Given the description of an element on the screen output the (x, y) to click on. 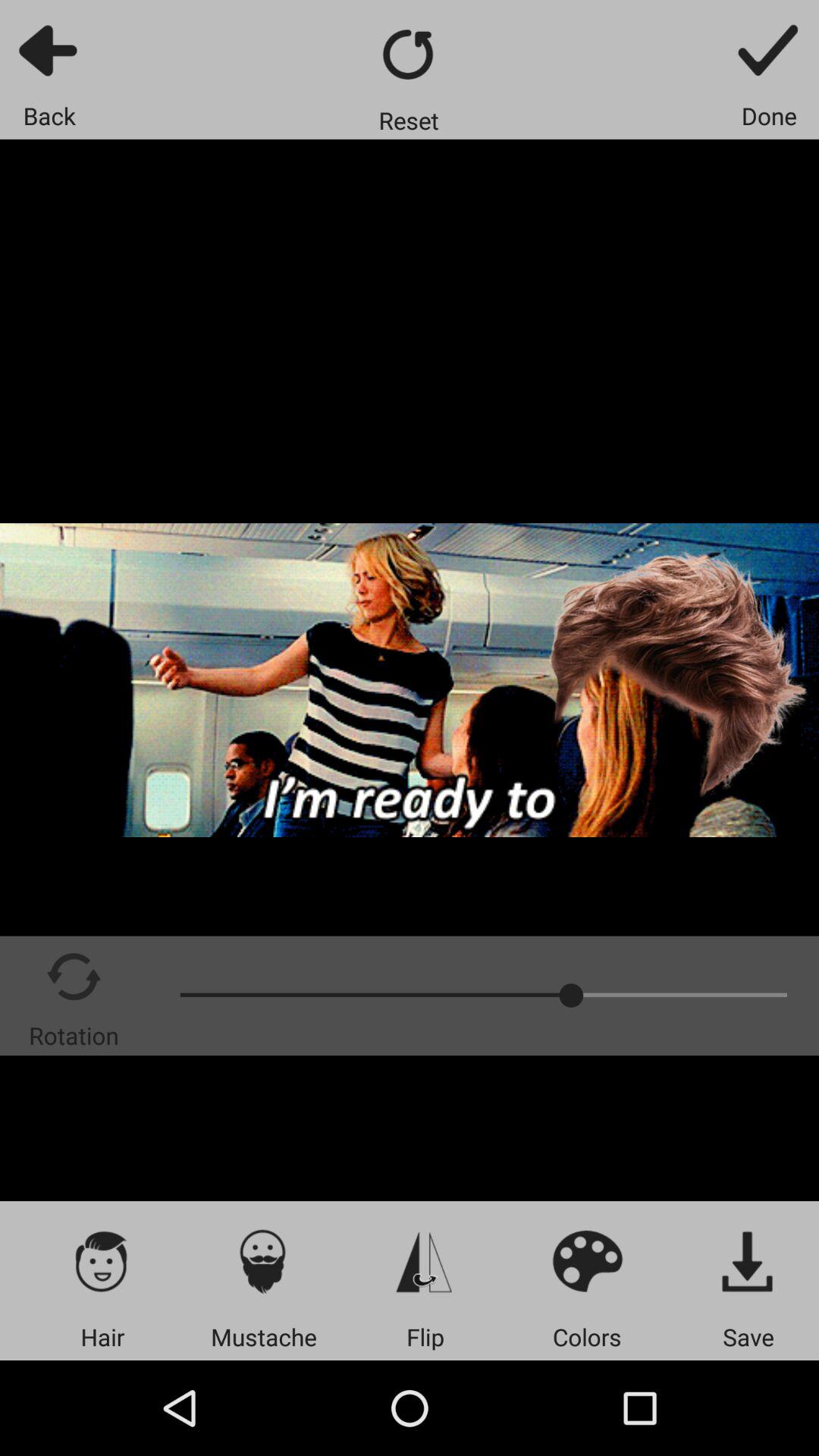
select color (586, 1260)
